Given the description of an element on the screen output the (x, y) to click on. 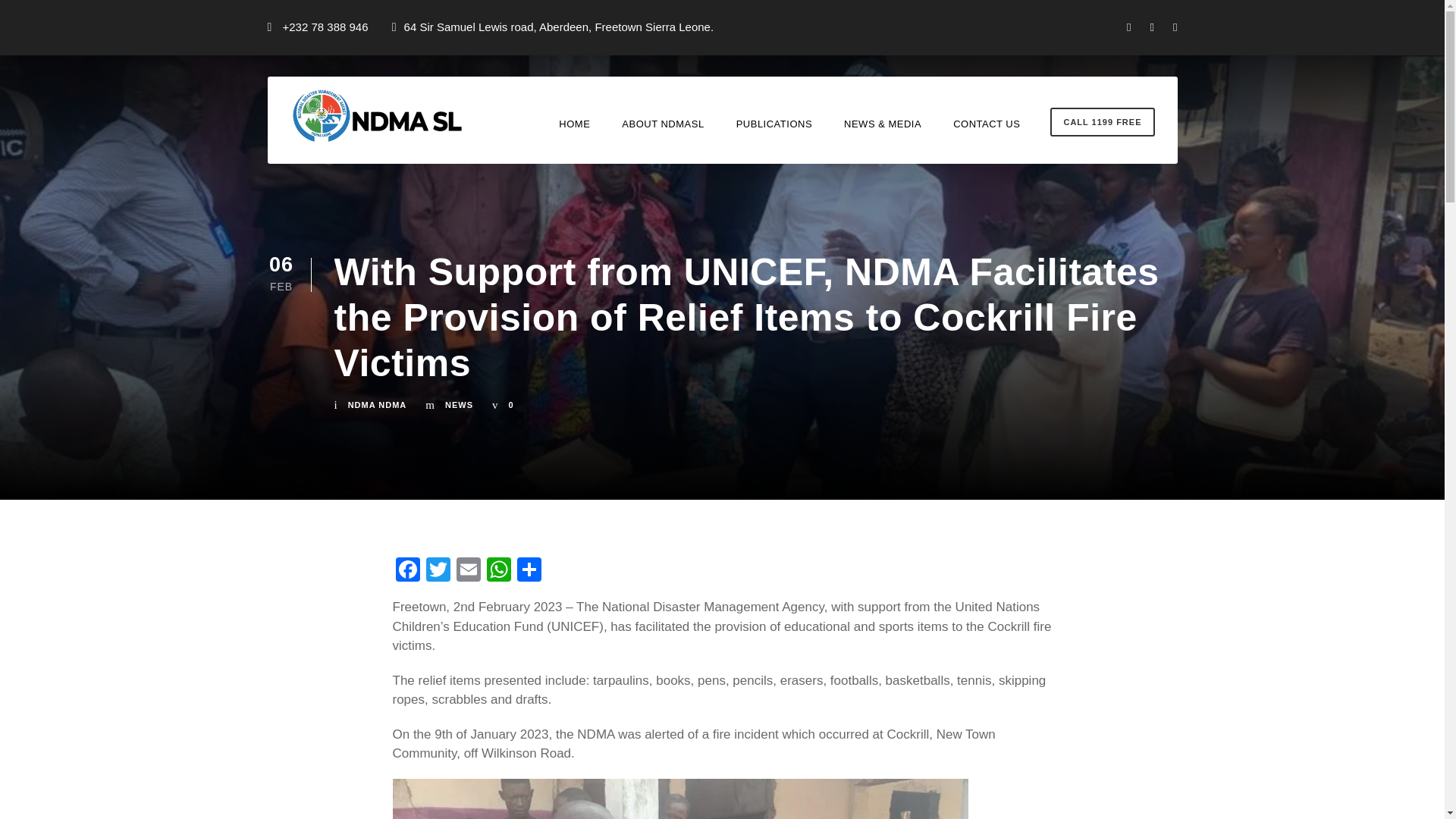
Twitter (437, 571)
NDMA NDMA (377, 404)
CALL 1199 FREE (1101, 122)
ABOUT NDMASL (662, 137)
Facebook (408, 571)
CONTACT US (986, 137)
Email (467, 571)
PUBLICATIONS (774, 137)
NEWS (459, 404)
WhatsApp (498, 571)
